Given the description of an element on the screen output the (x, y) to click on. 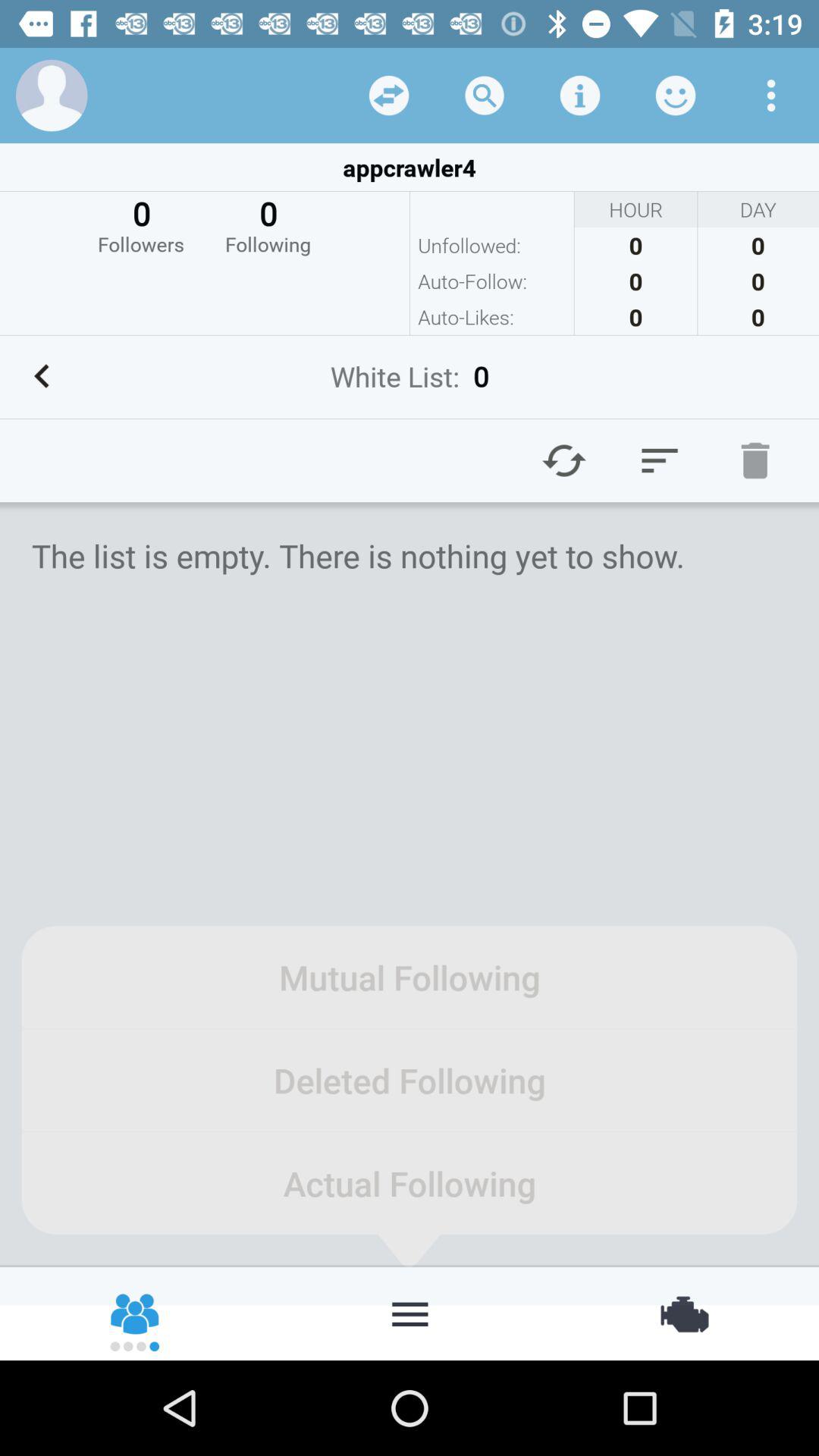
go to menu option (771, 95)
